Given the description of an element on the screen output the (x, y) to click on. 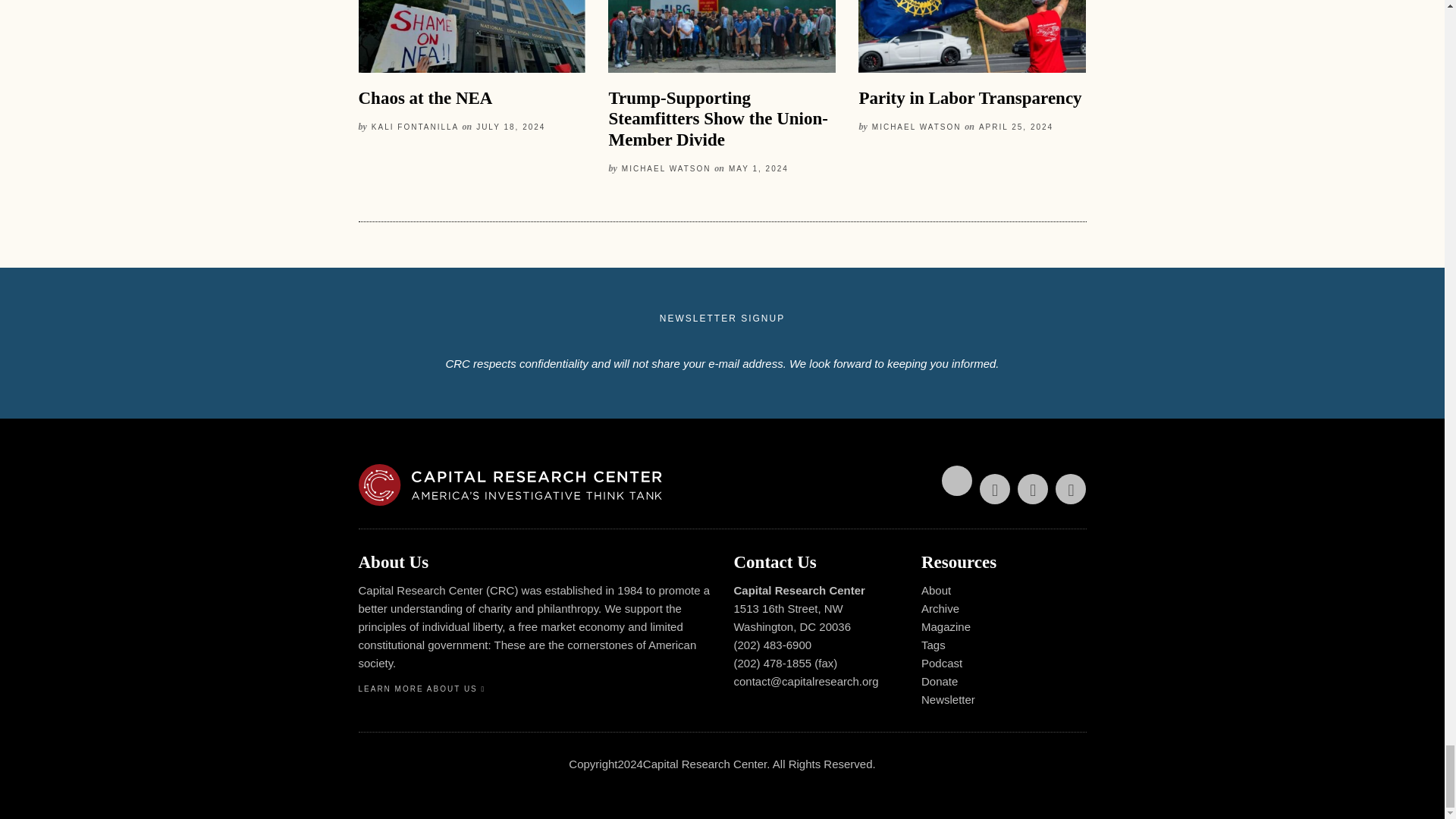
Follow Us on Instagram (1070, 489)
Follow Us on YouTube (1032, 489)
Trump-Supporting Steamfitters Show the Union-Member Divide (717, 118)
Follow Us on Twitter (957, 481)
Follow Us on Facebook (994, 489)
LEARN MORE ABOUT US (421, 688)
Follow Us on Instagram (1070, 489)
Follow Us on Twitter (957, 481)
Parity in Labor Transparency (970, 97)
Chaos at the NEA (425, 97)
Follow Us on Facebook (994, 489)
About (935, 590)
Follow Us on YouTube (1032, 489)
